Given the description of an element on the screen output the (x, y) to click on. 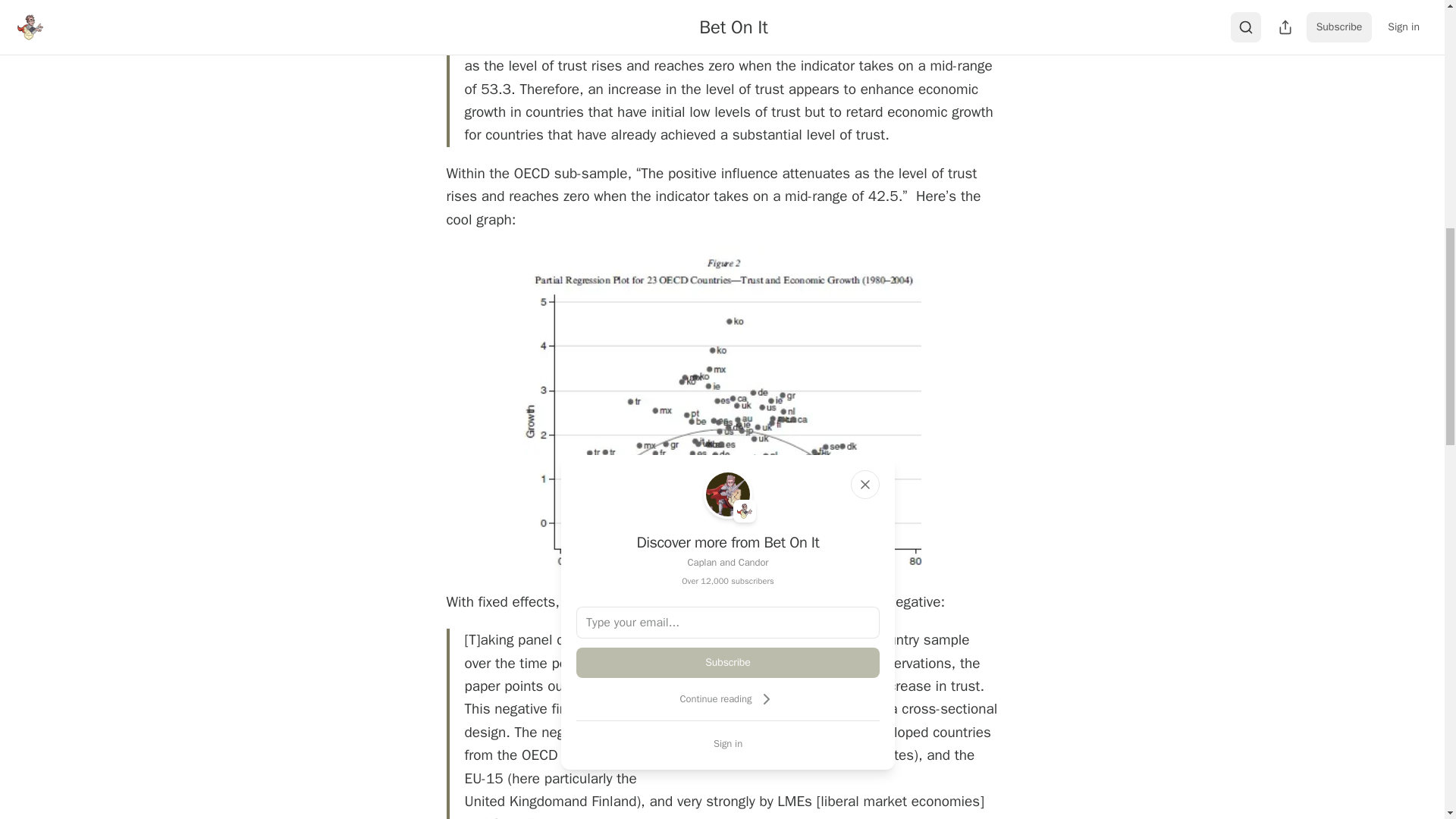
Subscribe (727, 662)
Sign in (727, 743)
